Given the description of an element on the screen output the (x, y) to click on. 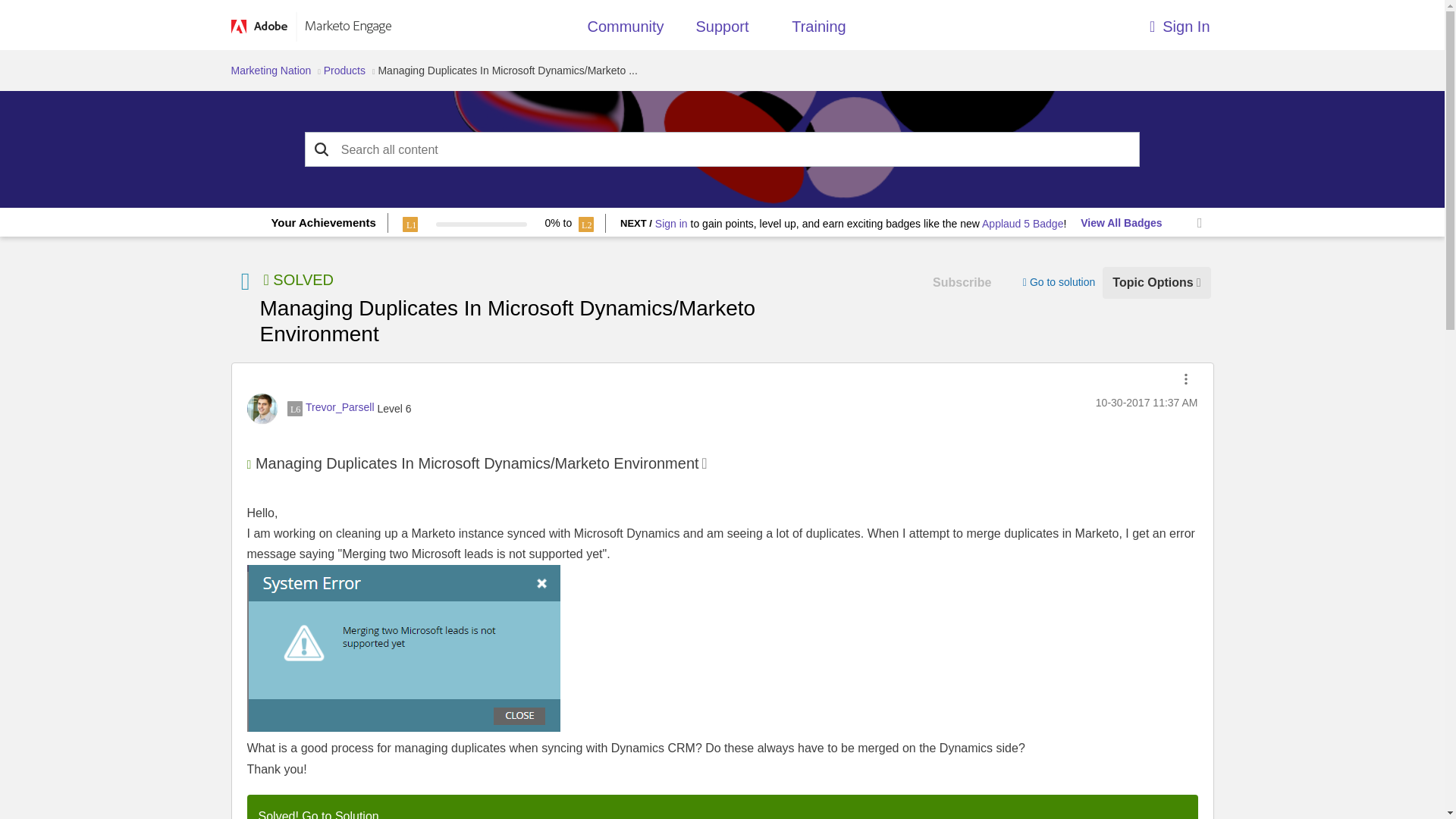
Posted on (1147, 402)
Go to Solution. (341, 814)
Sign In (1090, 22)
Products (344, 70)
Applaud 5 Badge (1021, 223)
Community (624, 30)
Marketing Nation (270, 70)
Support (721, 30)
Forum (244, 280)
Go to solution (1059, 282)
Show option menu (1185, 378)
Level 6 (294, 408)
Show option menu (1155, 282)
View All Badges (1120, 223)
Insert a query. Press enter to send (722, 149)
